Given the description of an element on the screen output the (x, y) to click on. 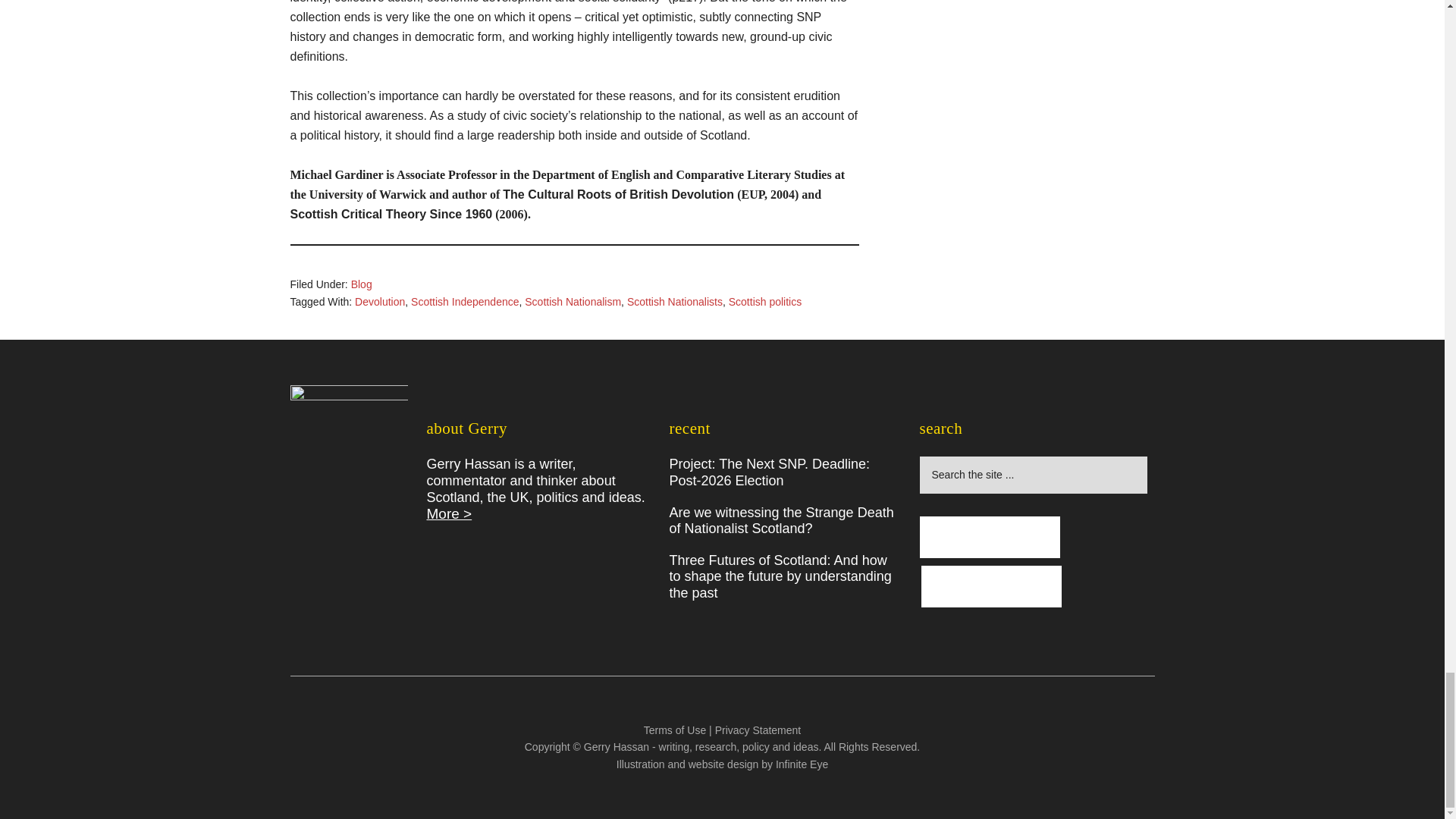
Scottish Independence (464, 301)
Gerry Hassan on Twitter (991, 586)
Scottish Nationalism (572, 301)
Scottish politics (765, 301)
Devolution (379, 301)
Blog (361, 284)
Scottish Nationalists (674, 301)
Gerry Hassan Facebook Page (988, 536)
